Given the description of an element on the screen output the (x, y) to click on. 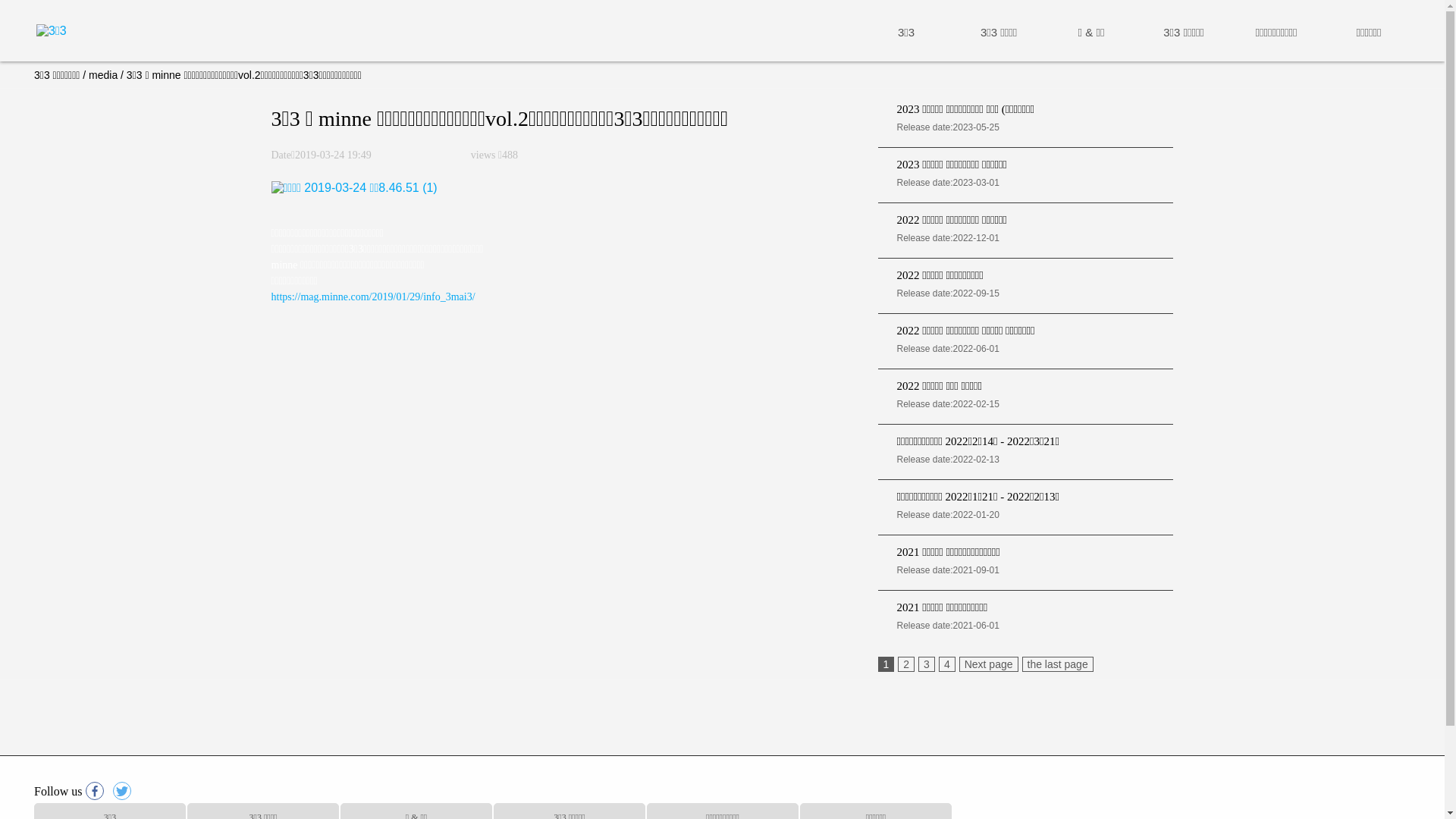
  Element type: text (123, 790)
media Element type: text (102, 75)
4 Element type: text (946, 663)
  Element type: text (95, 790)
1 Element type: text (886, 663)
3 Element type: text (926, 663)
2 Element type: text (905, 663)
the last page Element type: text (1057, 663)
https://mag.minne.com/2019/01/29/info_3mai3/ Element type: text (373, 296)
Next page Element type: text (988, 663)
